Given the description of an element on the screen output the (x, y) to click on. 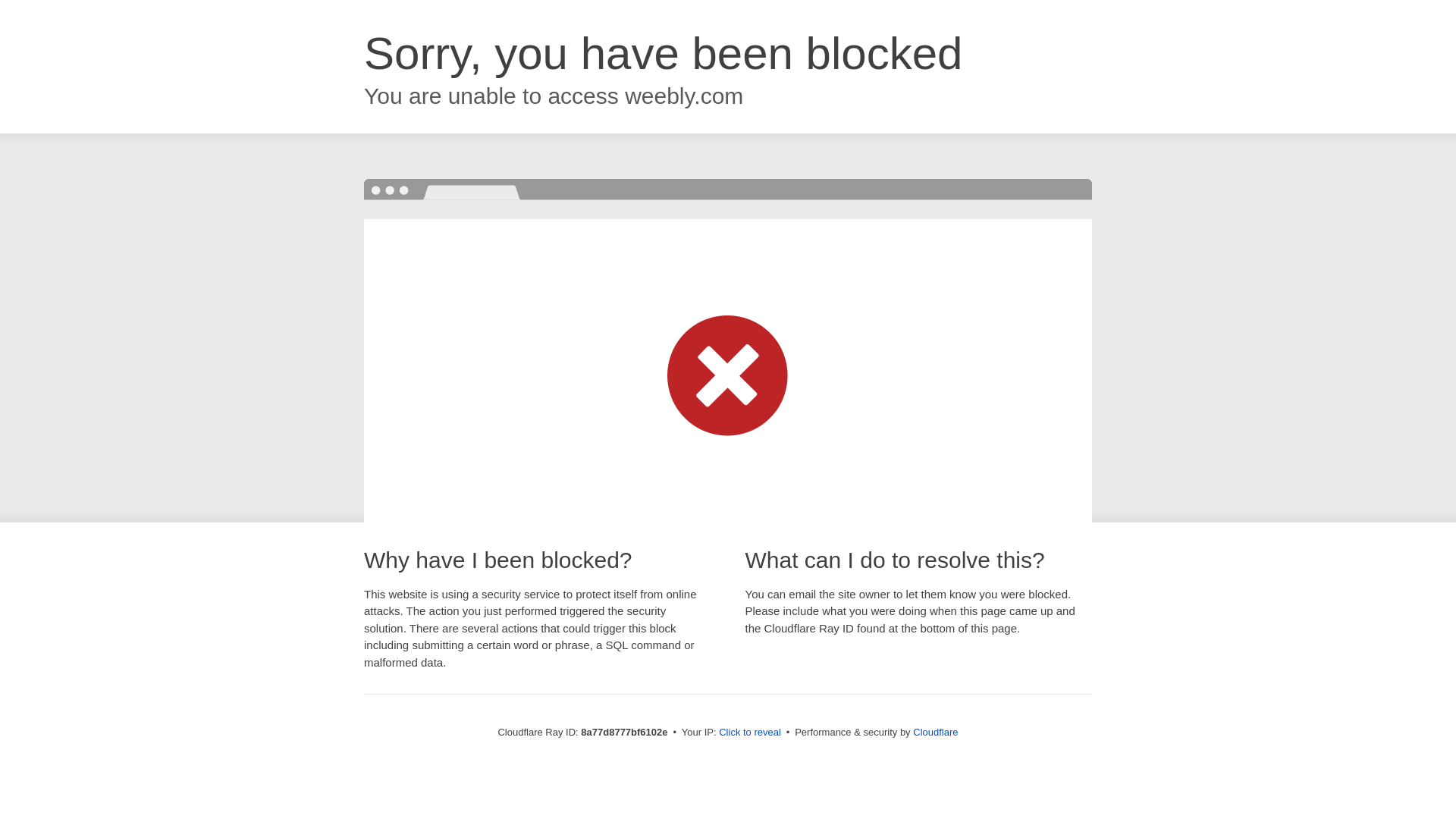
Click to reveal (749, 732)
Cloudflare (935, 731)
